Given the description of an element on the screen output the (x, y) to click on. 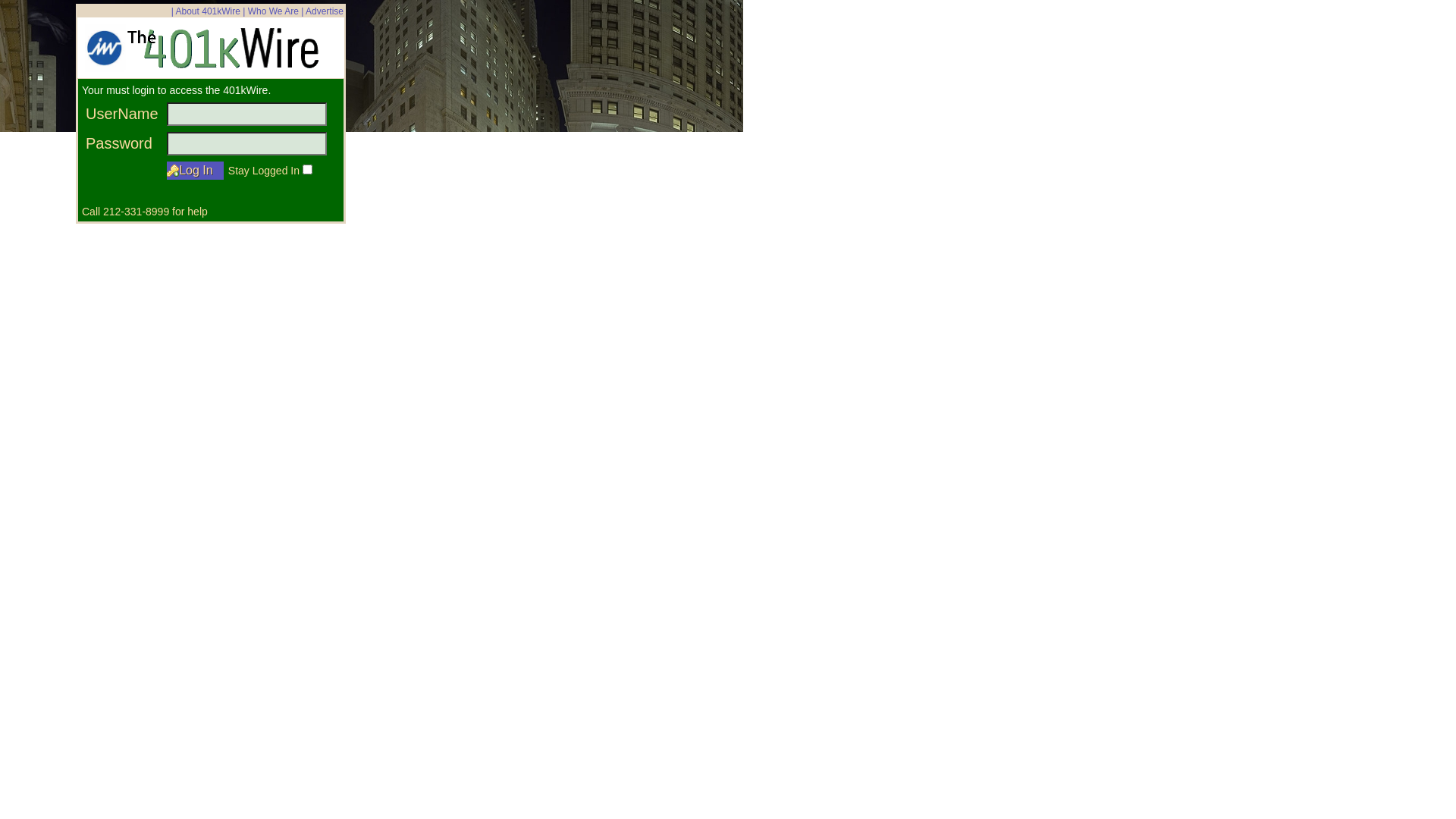
About 401kWire Element type: text (207, 11)
Who We Are Element type: text (272, 11)
 Log In  Element type: text (194, 170)
Advertise Element type: text (324, 11)
